Given the description of an element on the screen output the (x, y) to click on. 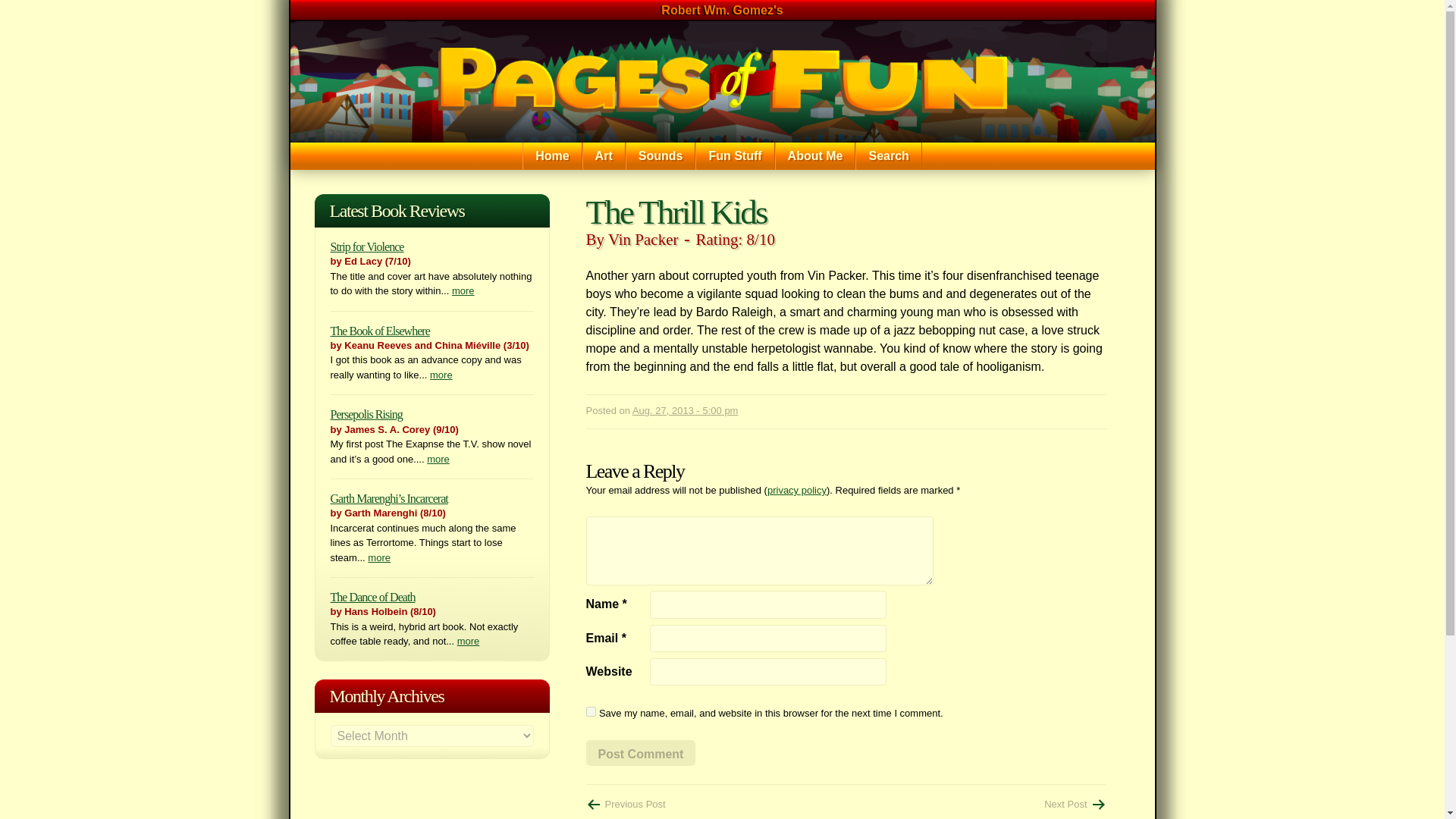
Sounds (660, 155)
Game Log (918, 181)
Authenticity Fetishist (848, 181)
Relief Prints (806, 181)
Fun Stuff (734, 155)
Game Reviews (769, 181)
Post Comment (640, 752)
Martian Law (700, 181)
Art (604, 155)
Videodrome (1074, 804)
Home (722, 81)
Art Gallery (657, 181)
The Exciting Sounds of a Compaq P133 (848, 187)
Home (551, 155)
yes (590, 711)
